Given the description of an element on the screen output the (x, y) to click on. 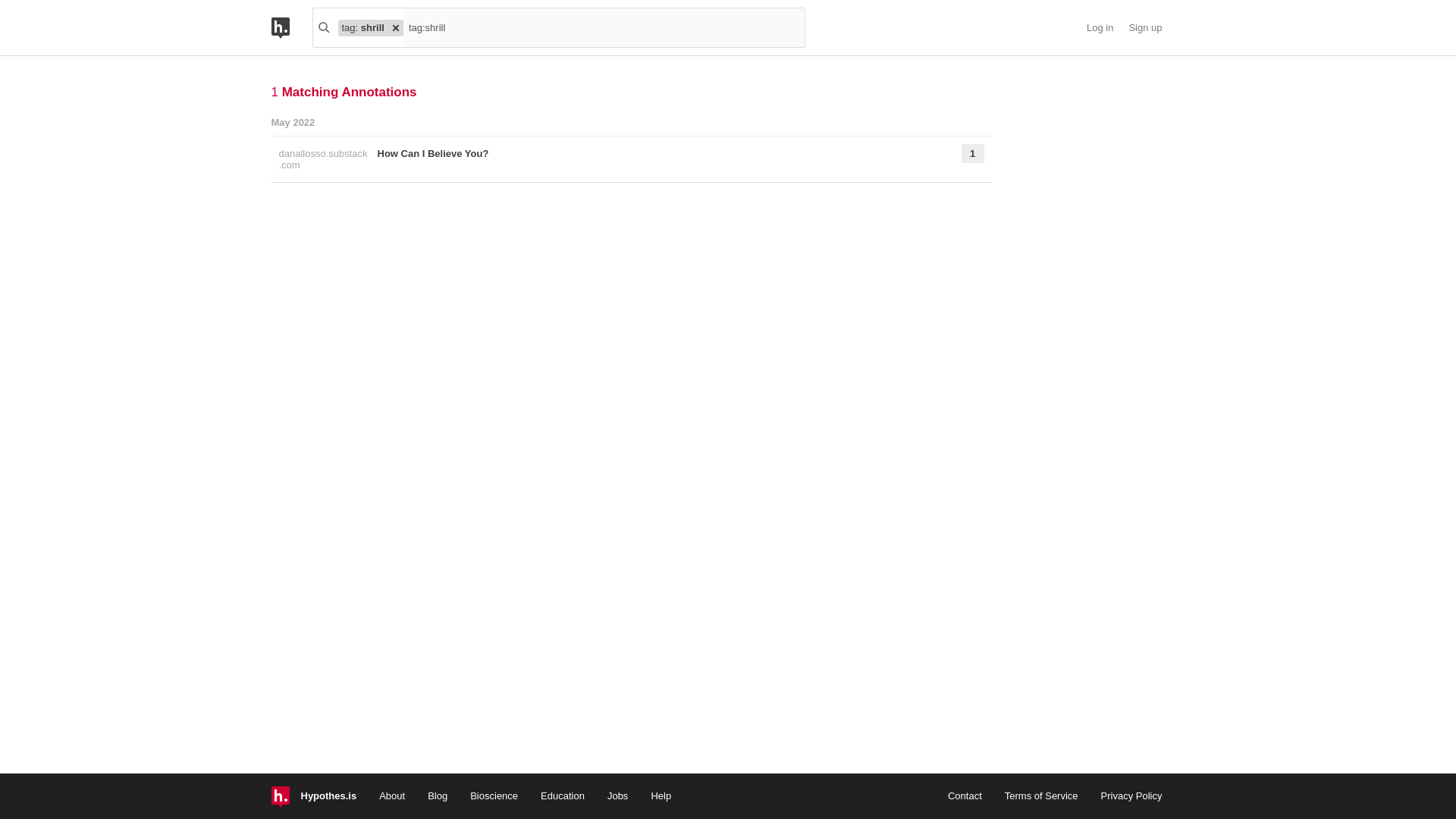
danallosso.substack.com (323, 159)
1 annotations added (955, 159)
tag:shrill (603, 27)
Hypothesis homepage (291, 27)
Sign up (1144, 28)
tag:shrill (603, 27)
Remove search term (395, 27)
How Can I Believe You? (650, 159)
Visit annotations in context (323, 159)
Log in (1099, 28)
